Given the description of an element on the screen output the (x, y) to click on. 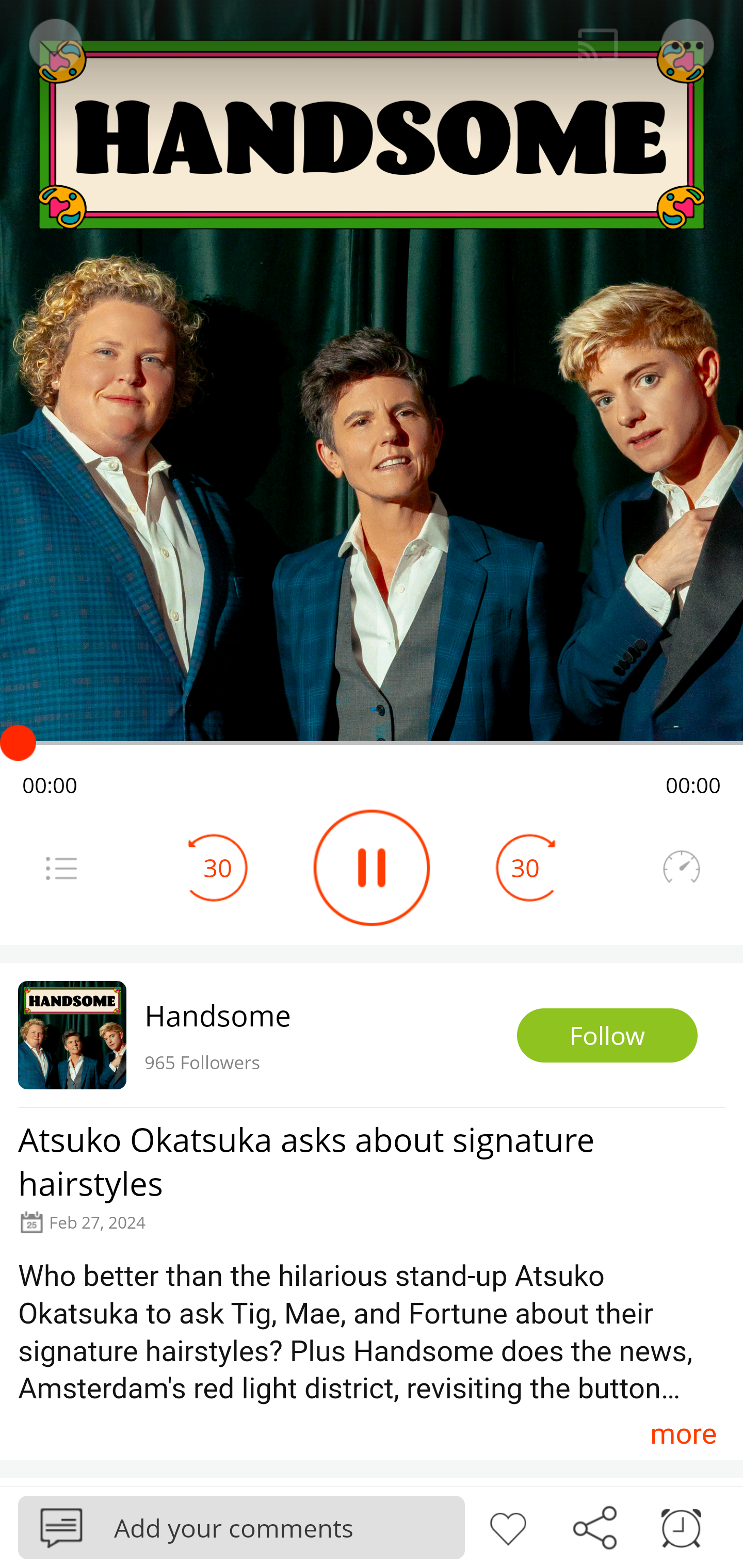
Back (53, 45)
Cast. Disconnected (597, 45)
Menu (688, 45)
Play (371, 867)
30 Seek Backward (217, 867)
30 Seek Forward (525, 867)
Menu (60, 867)
Speedometer (681, 867)
Handsome 965 Followers Follow (371, 1034)
Follow (607, 1035)
more (682, 1432)
Like (508, 1526)
Share (594, 1526)
Sleep timer (681, 1526)
Podbean Add your comments (241, 1526)
